Given the description of an element on the screen output the (x, y) to click on. 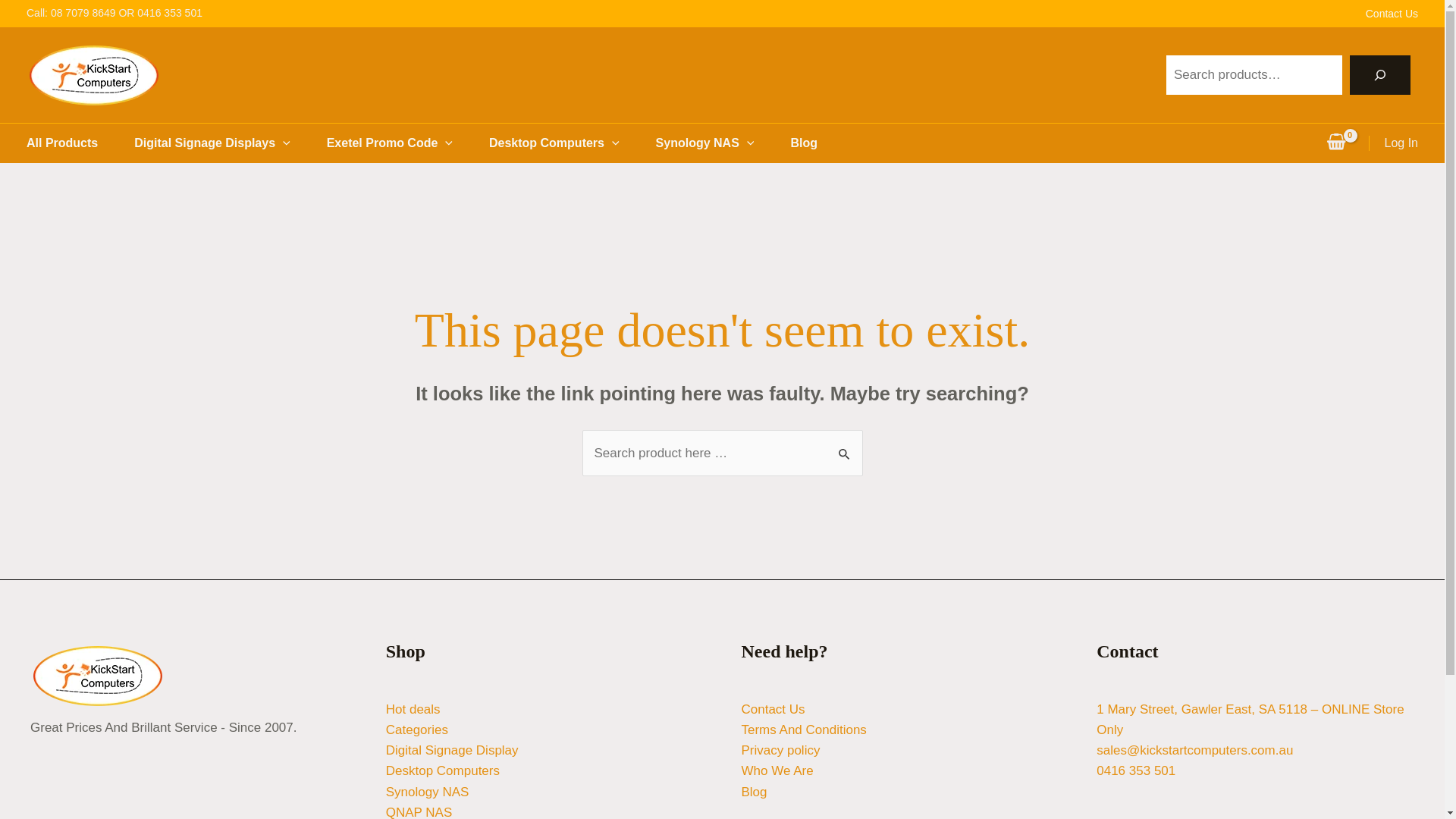
Who We Are Element type: text (777, 770)
Exetel Promo Code Element type: text (407, 143)
Search Element type: text (845, 445)
Digital Signage Displays Element type: text (230, 143)
Blog Element type: text (821, 143)
Contact Us Element type: text (773, 709)
All Products Element type: text (80, 143)
Contact Us Element type: text (1376, 13)
Digital Signage Display Element type: text (451, 750)
Synology NAS Element type: text (427, 791)
Desktop Computers Element type: text (572, 143)
0416 353 501 Element type: text (1135, 770)
Log In Element type: text (1401, 142)
Synology NAS Element type: text (722, 143)
Categories Element type: text (416, 729)
Terms And Conditions Element type: text (803, 729)
Privacy policy Element type: text (780, 750)
Hot deals Element type: text (412, 709)
sales@kickstartcomputers.com.au Element type: text (1194, 750)
Blog Element type: text (754, 791)
Desktop Computers Element type: text (442, 770)
